Given the description of an element on the screen output the (x, y) to click on. 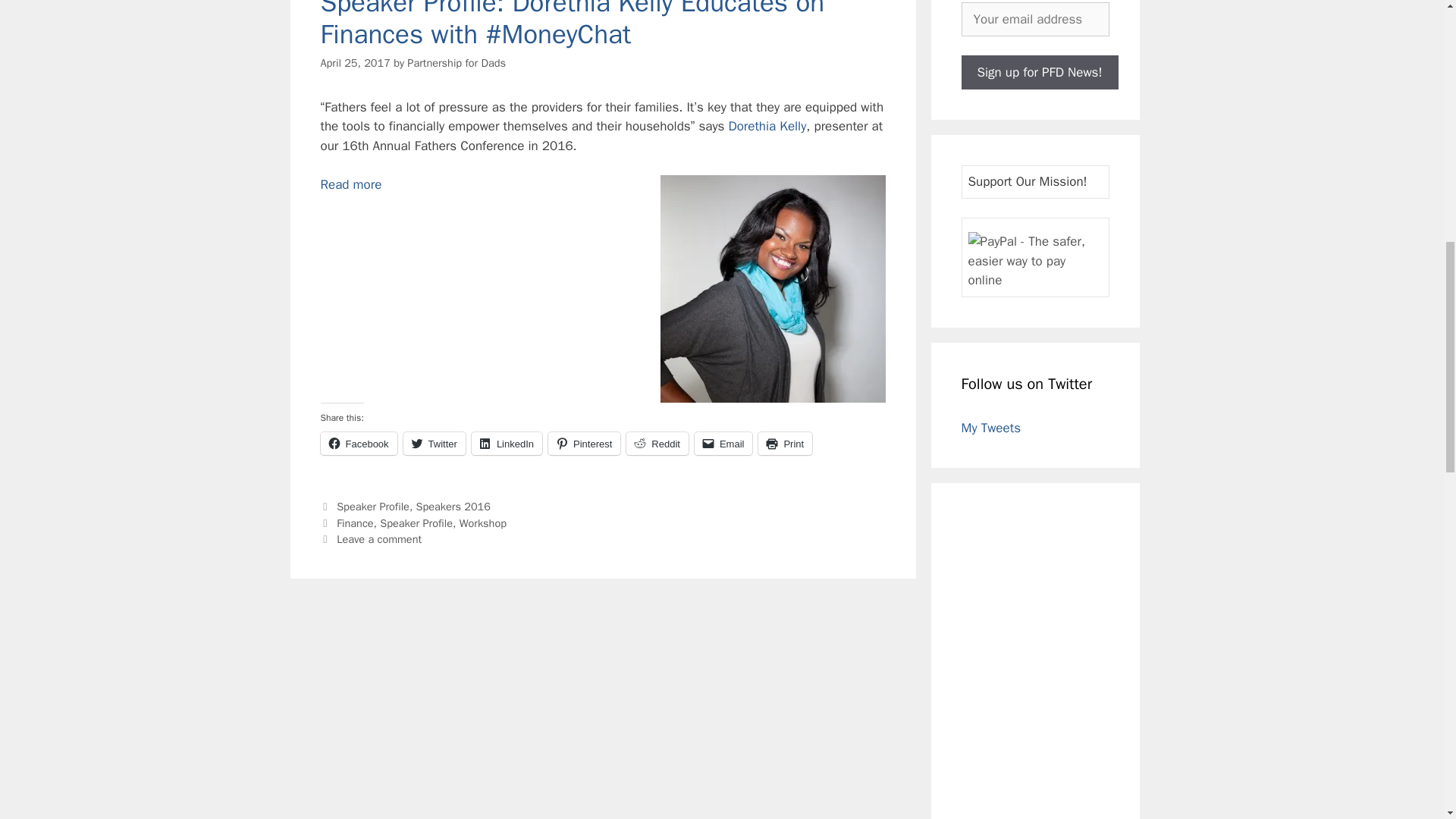
Scroll back to top (1406, 720)
Click to print (785, 443)
Click to share on Pinterest (584, 443)
Click to share on LinkedIn (506, 443)
Click to share on Facebook (358, 443)
Sign up for PFD News! (1039, 72)
Click to email a link to a friend (723, 443)
Click to share on Reddit (657, 443)
View all posts by Partnership for Dads (456, 62)
Click to share on Twitter (434, 443)
